Given the description of an element on the screen output the (x, y) to click on. 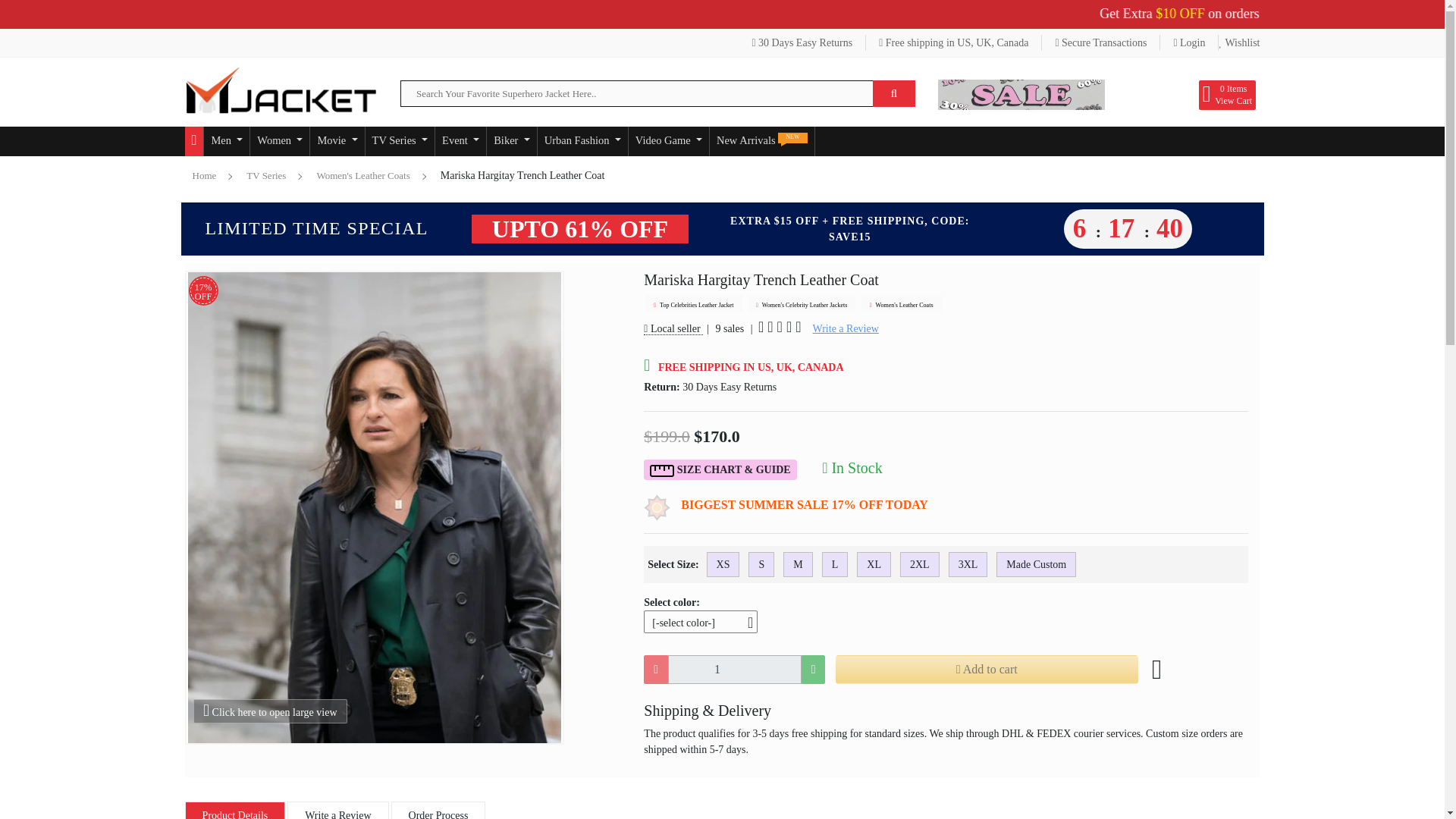
30 Days Easy Returns (802, 42)
TV Series (399, 140)
1 (734, 669)
Wishlist (1238, 42)
New Arrivals (761, 140)
Women (279, 140)
Login (1189, 42)
Event (460, 140)
Men (225, 140)
Women (279, 140)
Wishlist (1238, 42)
Biker (511, 140)
Home (193, 141)
Register or Login (1189, 42)
Movie (337, 140)
